Given the description of an element on the screen output the (x, y) to click on. 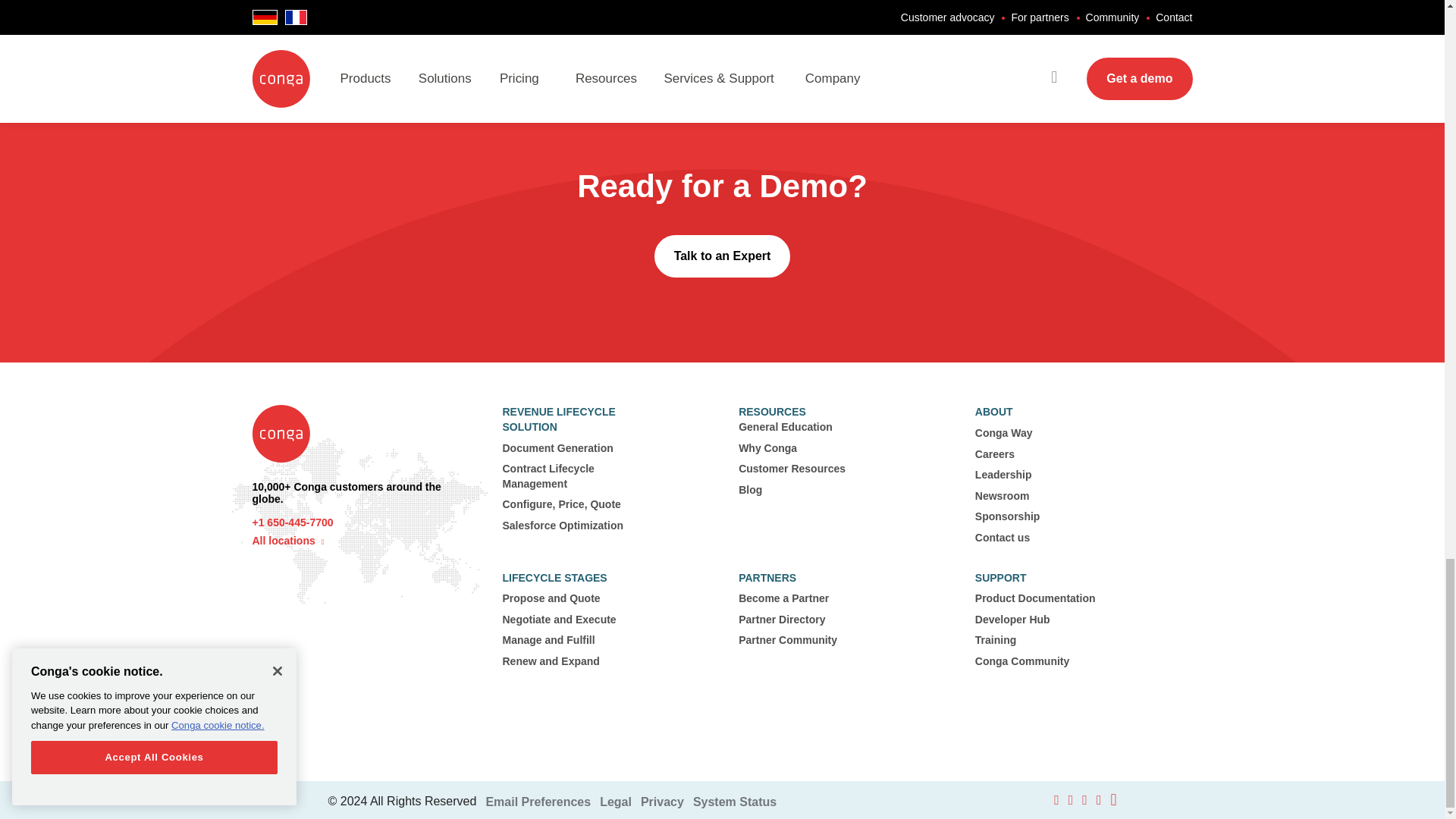
Home (279, 480)
